Given the description of an element on the screen output the (x, y) to click on. 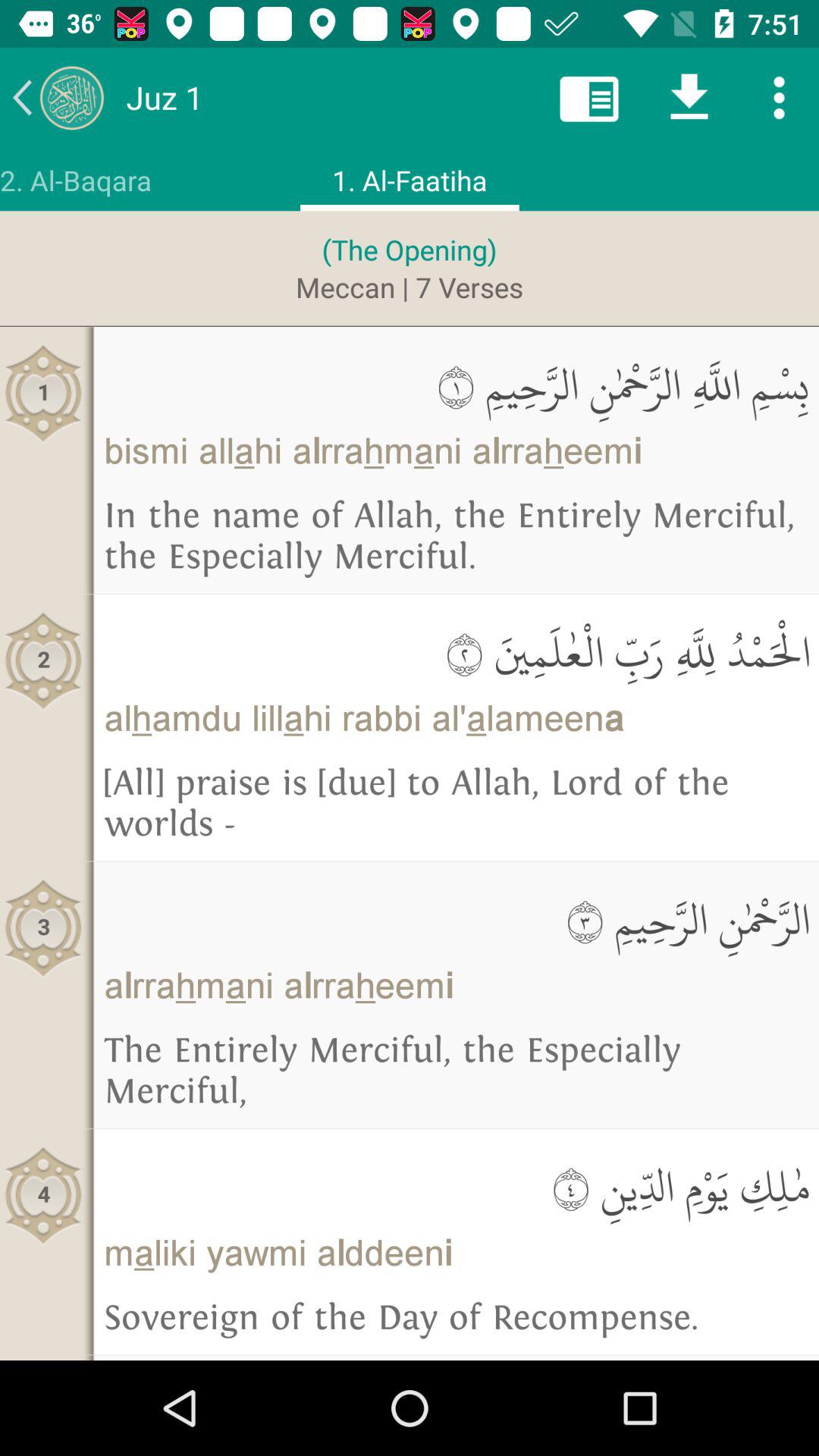
press the (the opening) icon (409, 249)
